Given the description of an element on the screen output the (x, y) to click on. 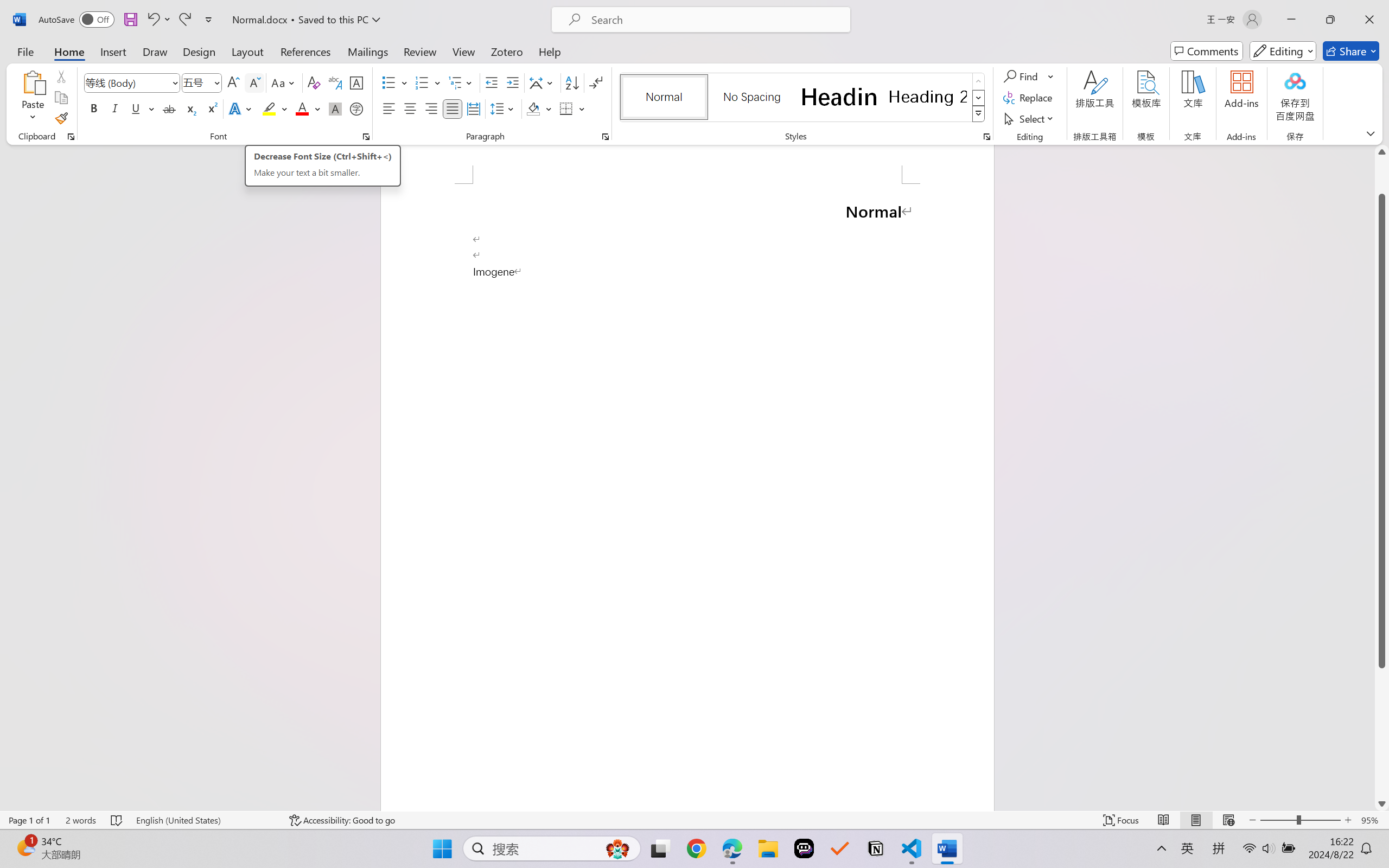
Zoom 139% (1364, 837)
